Given the description of an element on the screen output the (x, y) to click on. 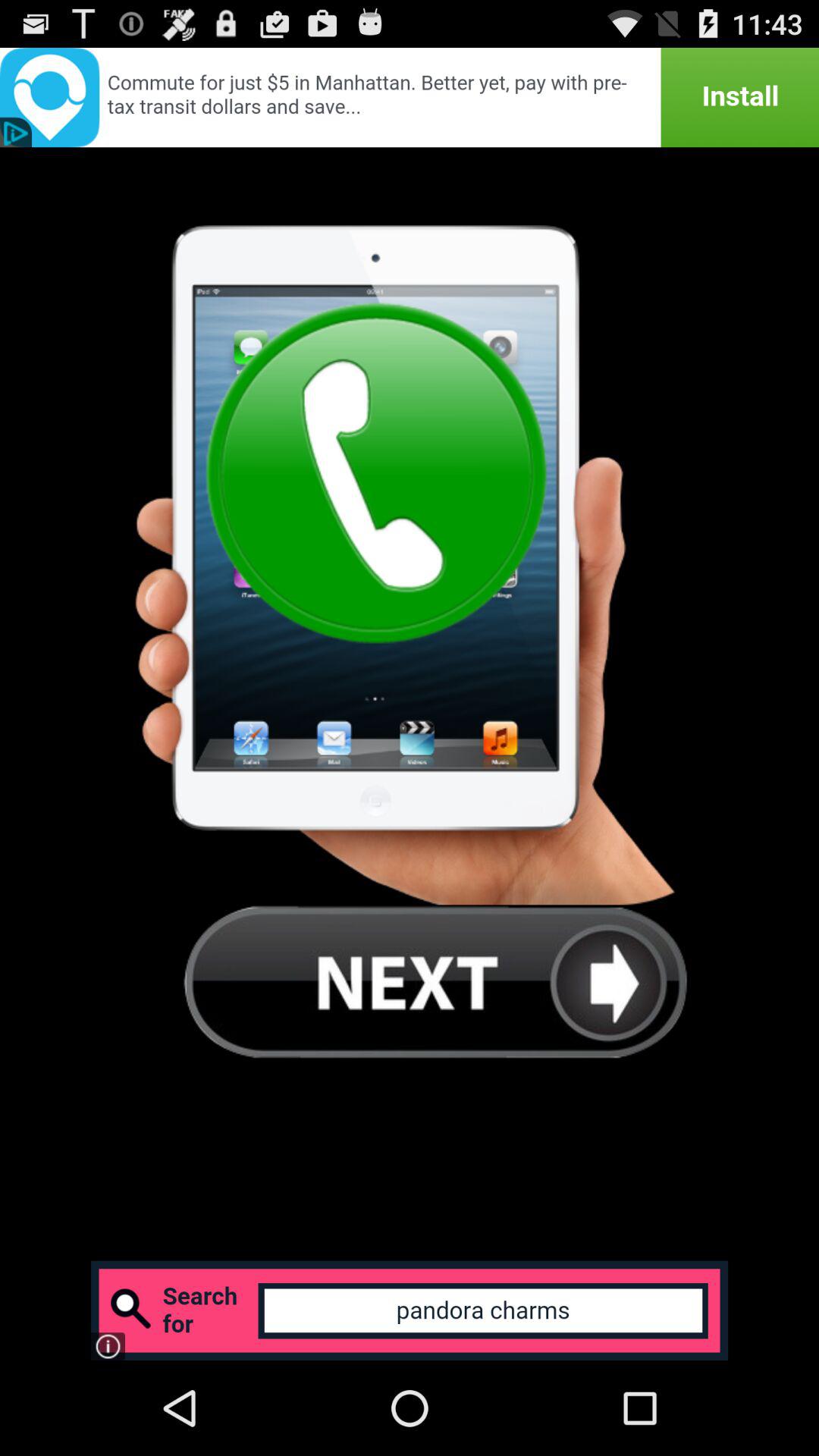
go back (435, 981)
